Given the description of an element on the screen output the (x, y) to click on. 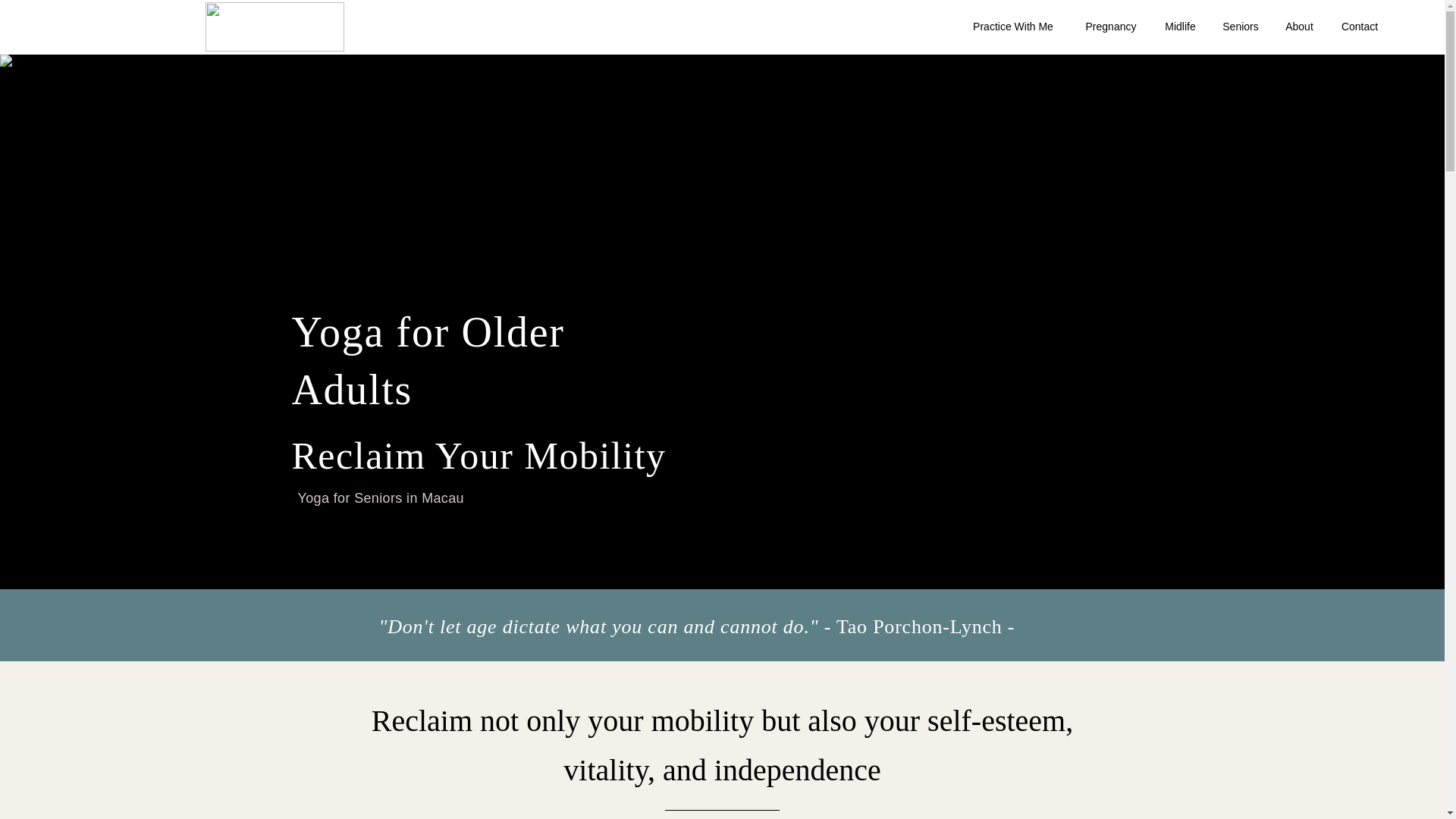
Contact (1358, 26)
